Given the description of an element on the screen output the (x, y) to click on. 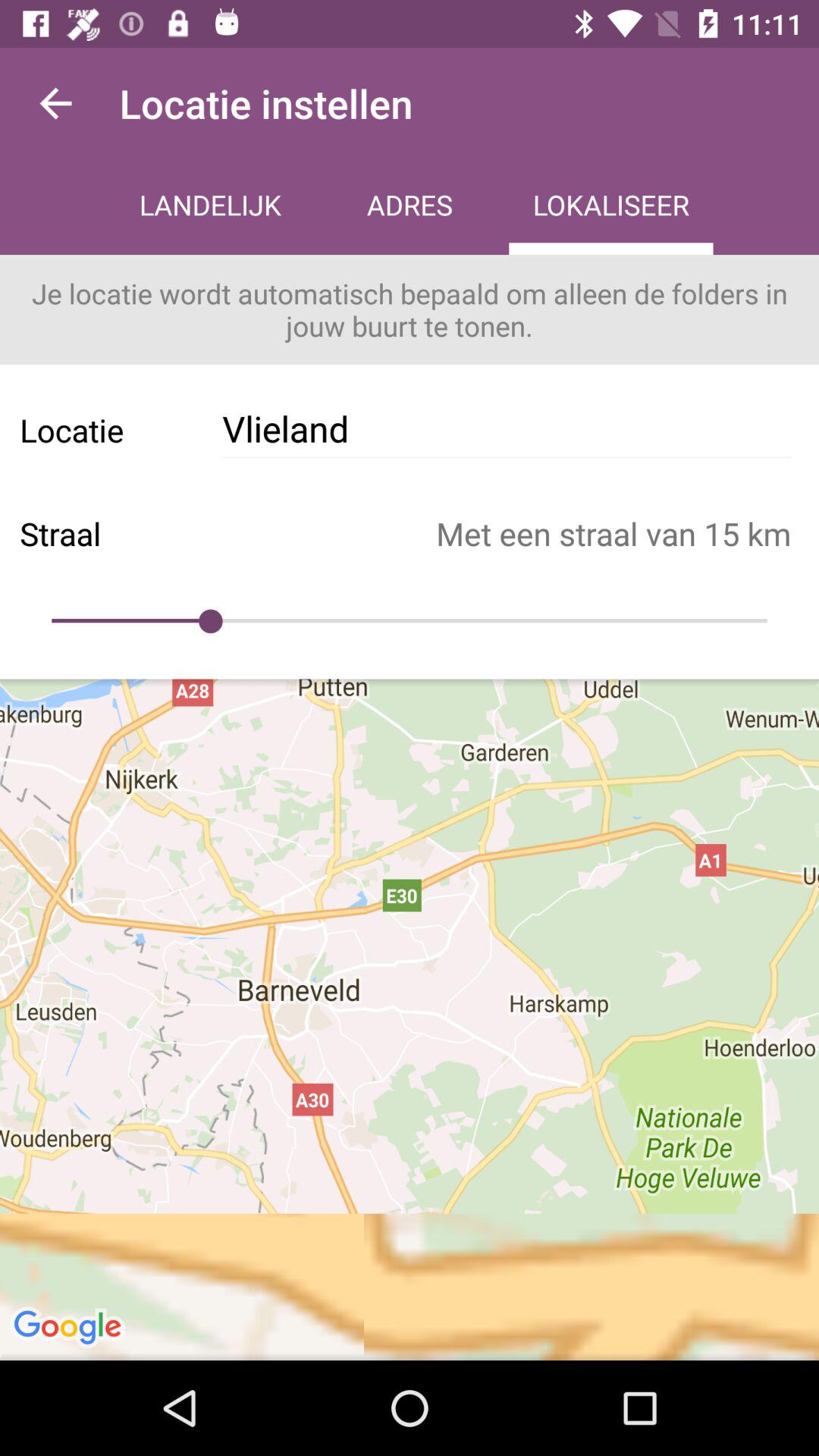
open icon to the right of the locatie icon (506, 429)
